Given the description of an element on the screen output the (x, y) to click on. 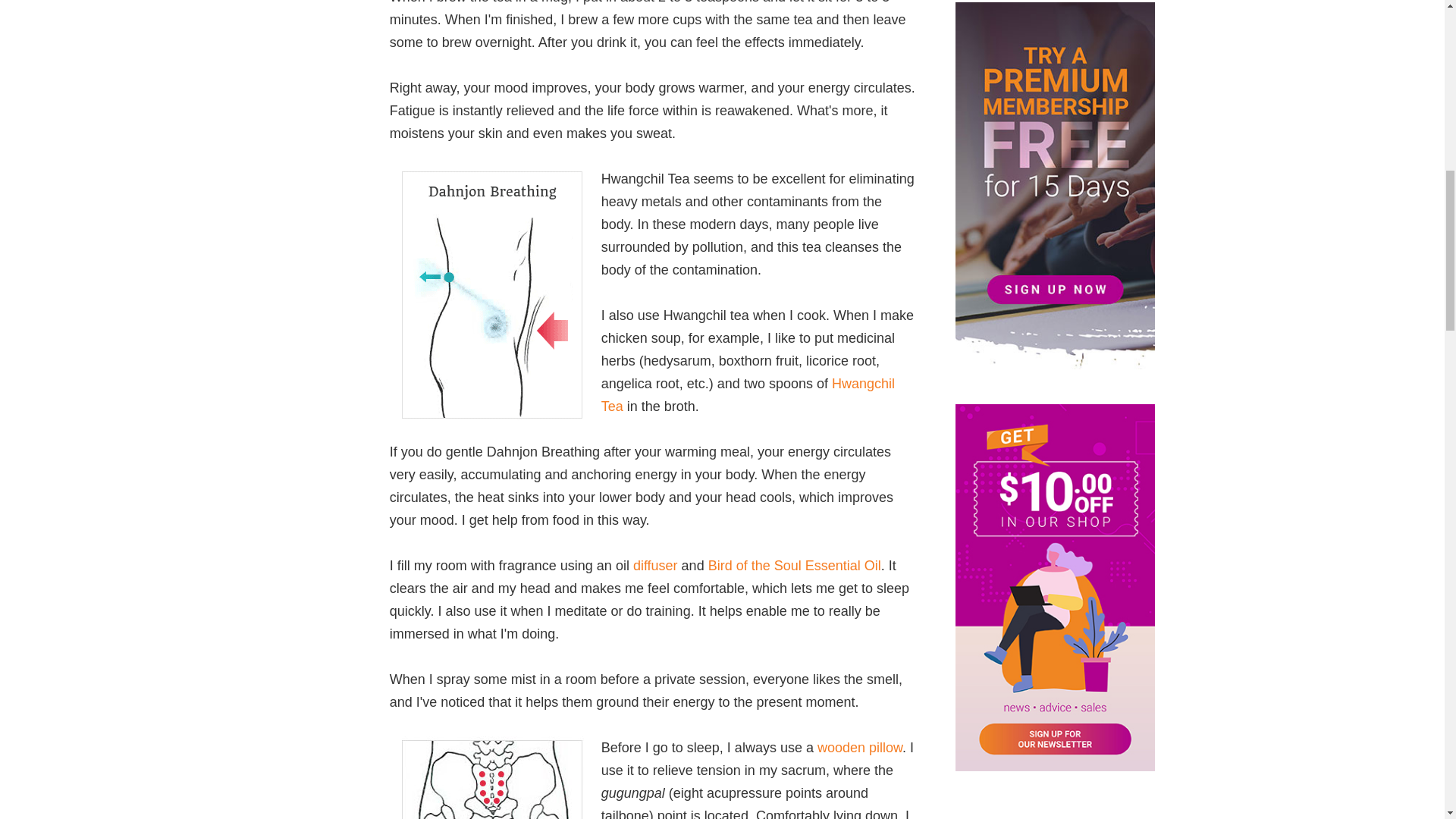
wooden pillow (859, 747)
Hwangchil Tea (748, 394)
Bird of the Soul Essential Oil (793, 565)
diffuser (655, 565)
